Given the description of an element on the screen output the (x, y) to click on. 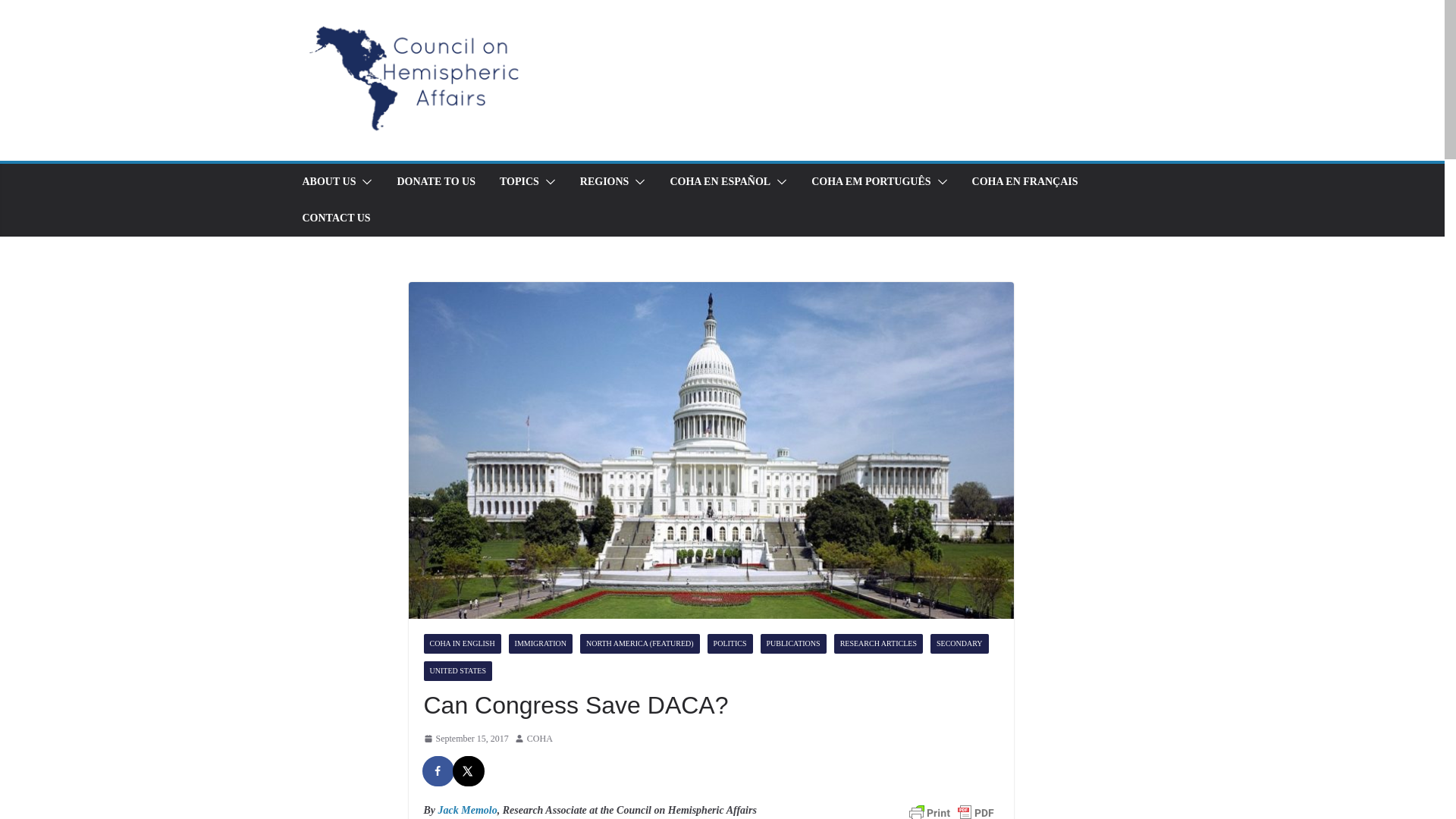
ABOUT US (328, 181)
COHA (540, 739)
DONATE TO US (435, 181)
Share on Facebook (437, 770)
5:40 pm (465, 739)
REGIONS (603, 181)
TOPICS (518, 181)
Share on X (467, 770)
